Given the description of an element on the screen output the (x, y) to click on. 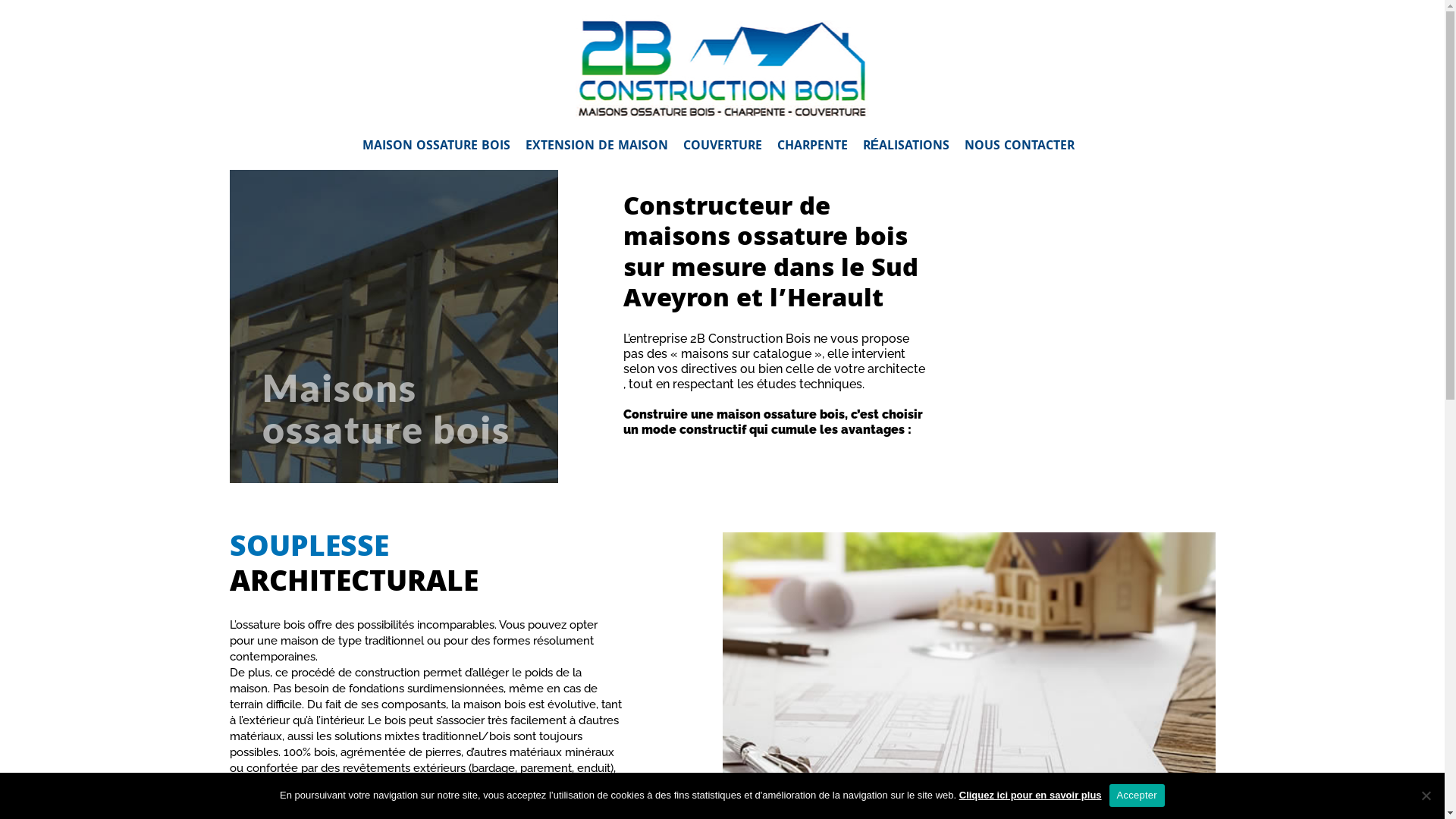
EXTENSION DE MAISON Element type: text (596, 146)
CHARPENTE Element type: text (812, 146)
Cliquez ici pour en savoir plus Element type: text (1030, 794)
COUVERTURE Element type: text (722, 146)
MAISON OSSATURE BOIS Element type: text (439, 146)
Accepter Element type: text (1136, 795)
Non Element type: hover (1425, 795)
NOUS CONTACTER Element type: text (1019, 146)
